Given the description of an element on the screen output the (x, y) to click on. 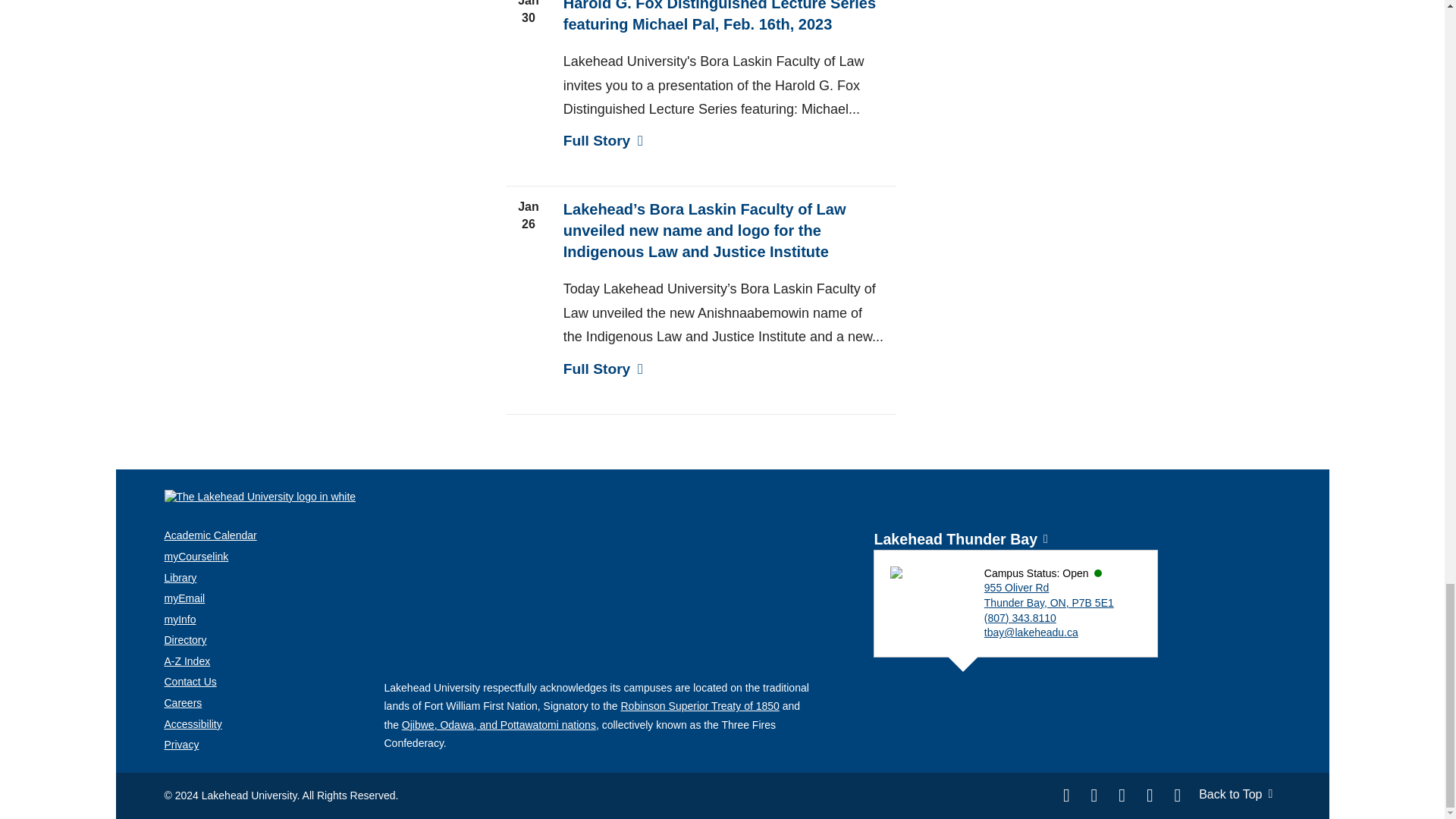
Lakehead Thunder Bay (954, 538)
